Given the description of an element on the screen output the (x, y) to click on. 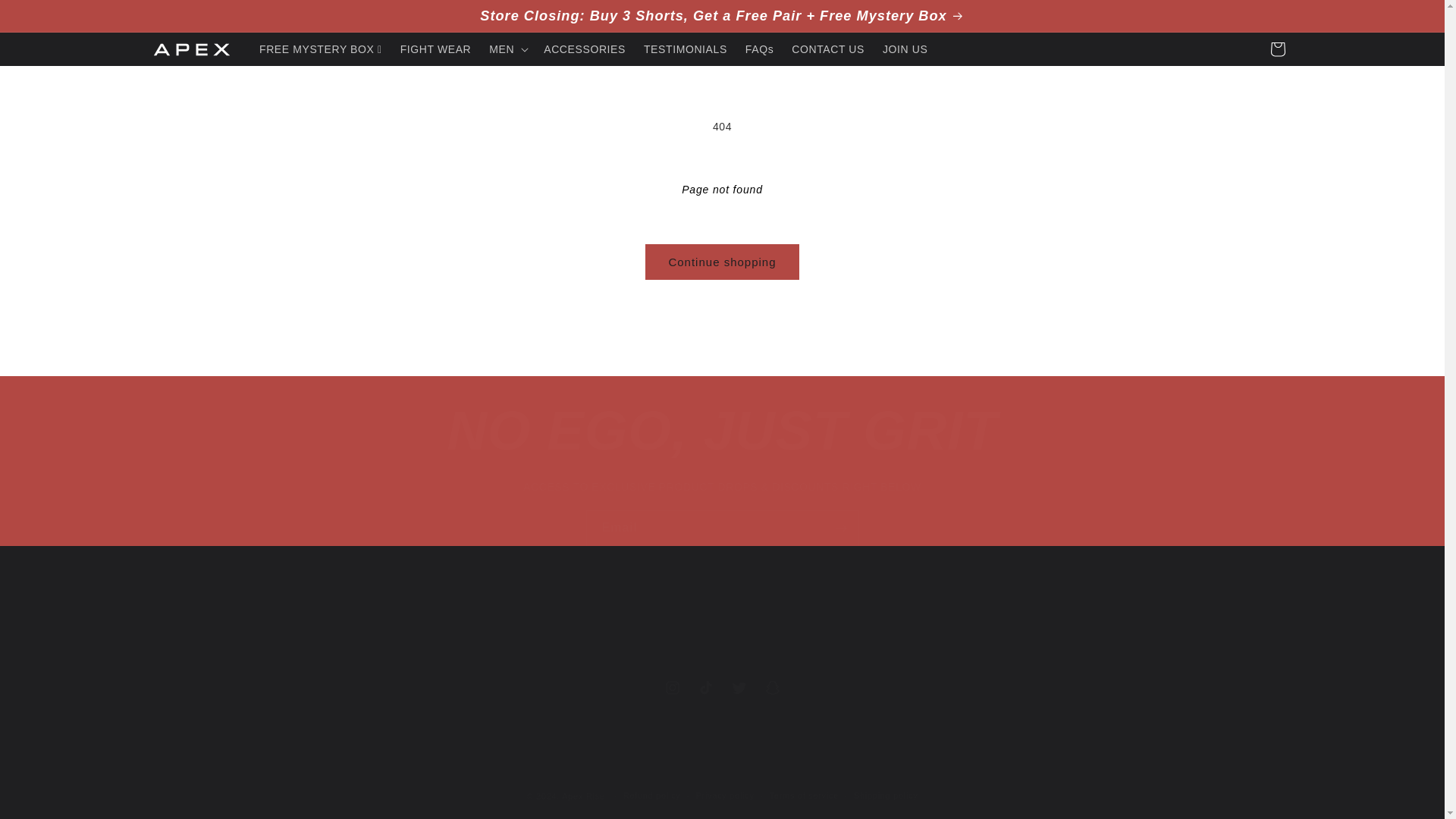
Skip to content (45, 17)
Email (722, 528)
FIGHT WEAR (435, 49)
NO EGO, JUST GRIT (721, 430)
